Given the description of an element on the screen output the (x, y) to click on. 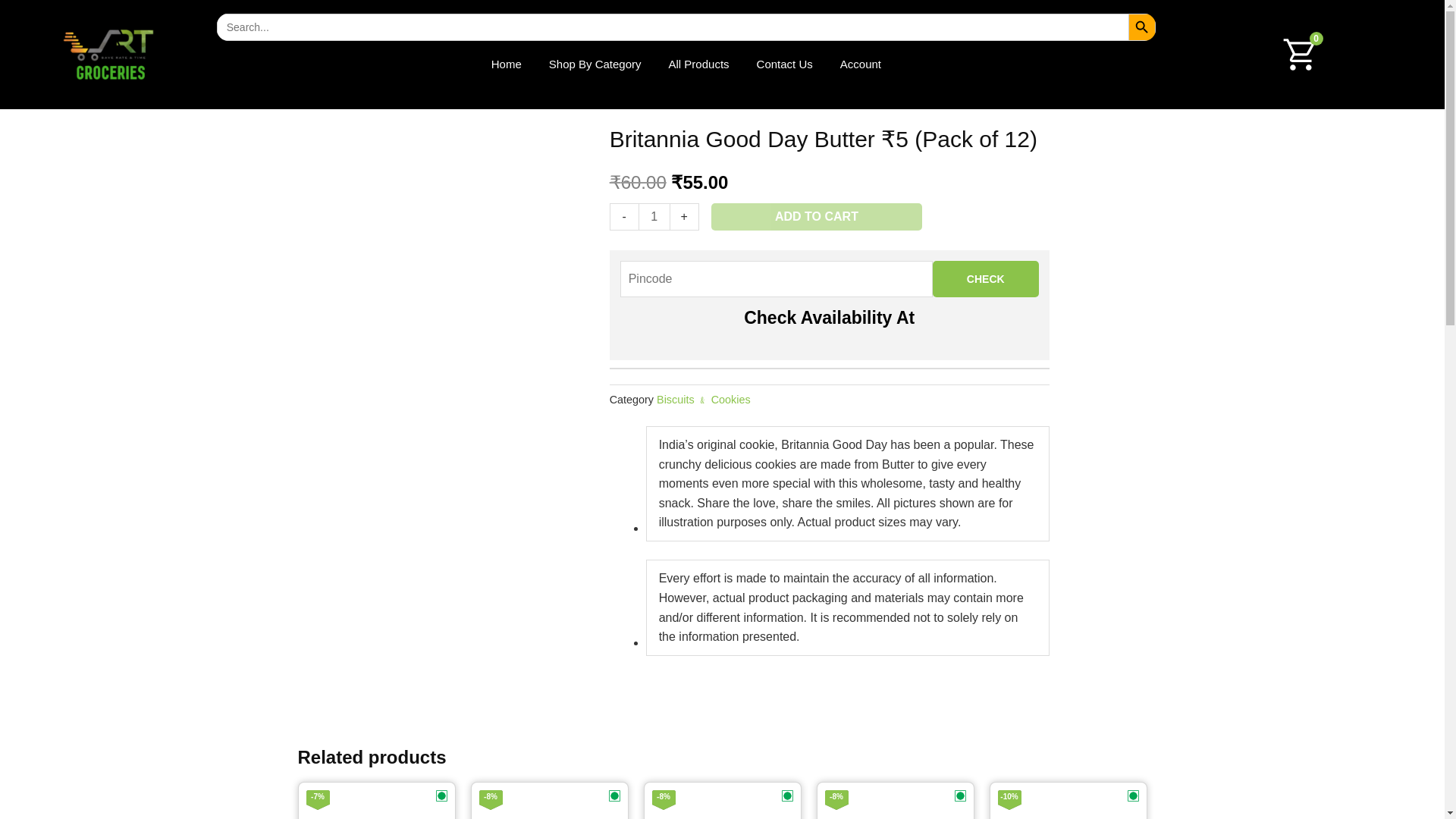
Home (506, 64)
Shop By Category (595, 64)
1 (654, 216)
Check (986, 279)
SEARCH BUTTON (1142, 26)
